Given the description of an element on the screen output the (x, y) to click on. 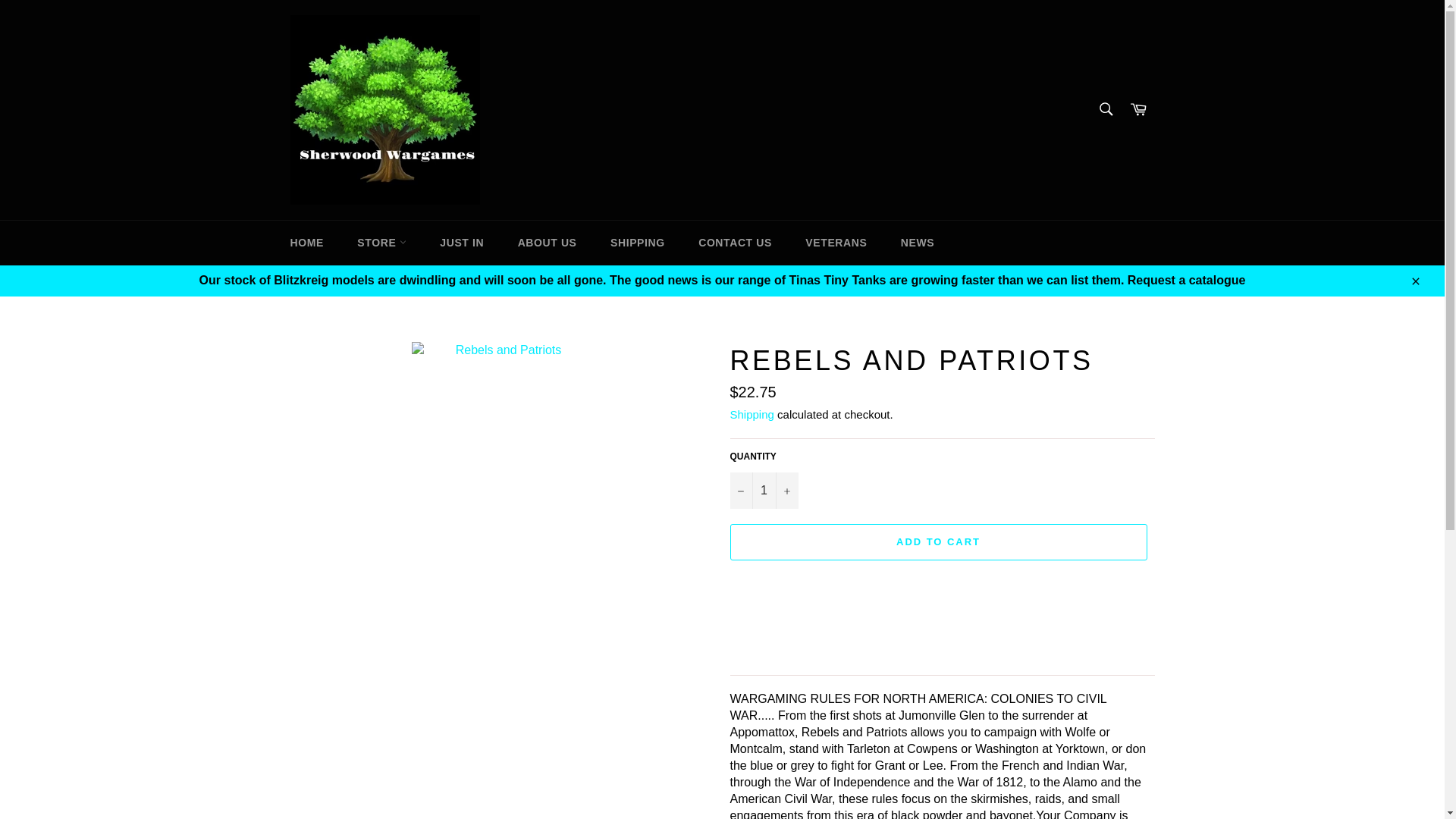
1 (763, 490)
